Given the description of an element on the screen output the (x, y) to click on. 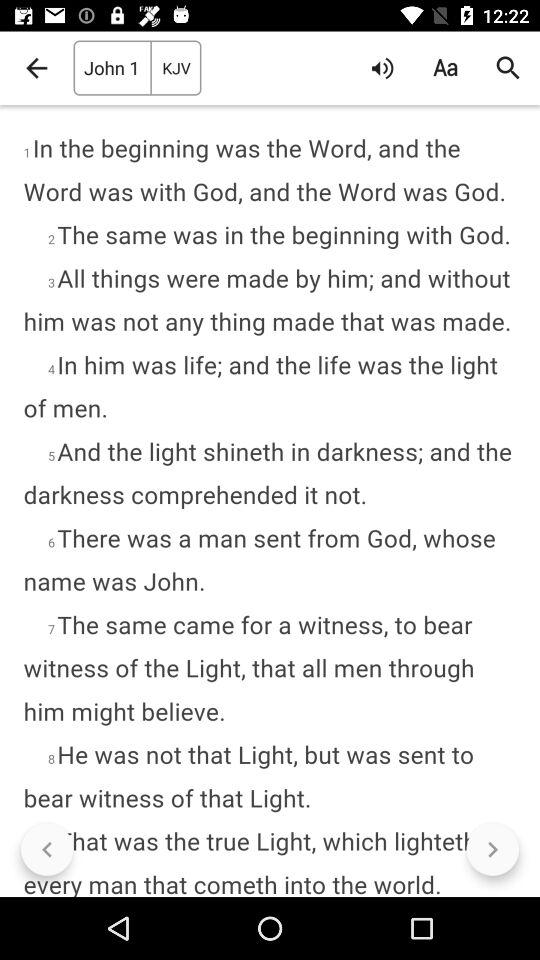
open icon to the left of john 1 item (36, 68)
